Given the description of an element on the screen output the (x, y) to click on. 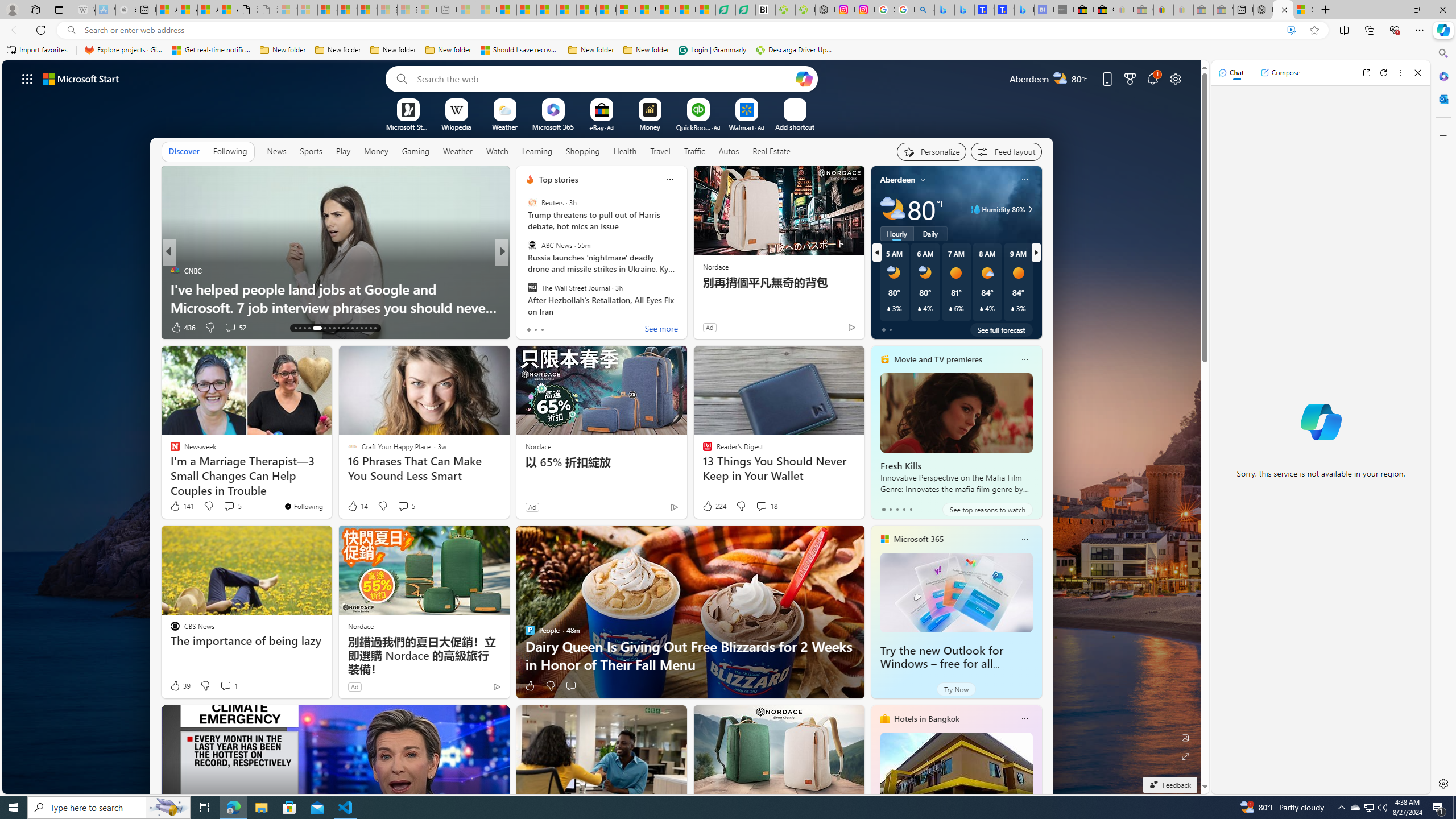
AutomationID: tab-14 (299, 328)
26 Like (530, 327)
8 Like (529, 327)
AutomationID: tab-17 (317, 328)
hotels-header-icon (884, 718)
AutomationID: tab-39 (366, 328)
